Given the description of an element on the screen output the (x, y) to click on. 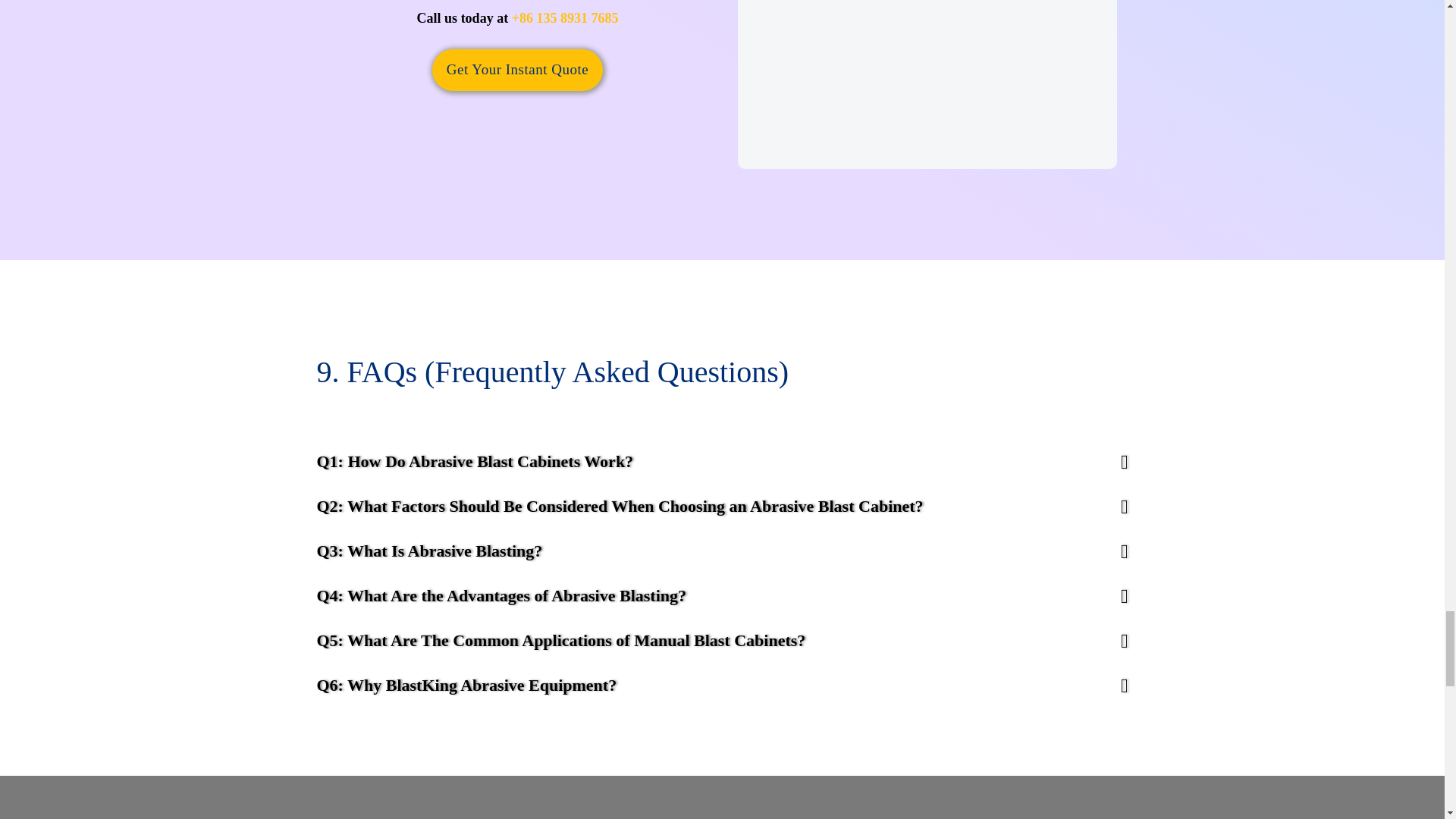
Shot Blasting Machine Working Video (926, 84)
